Given the description of an element on the screen output the (x, y) to click on. 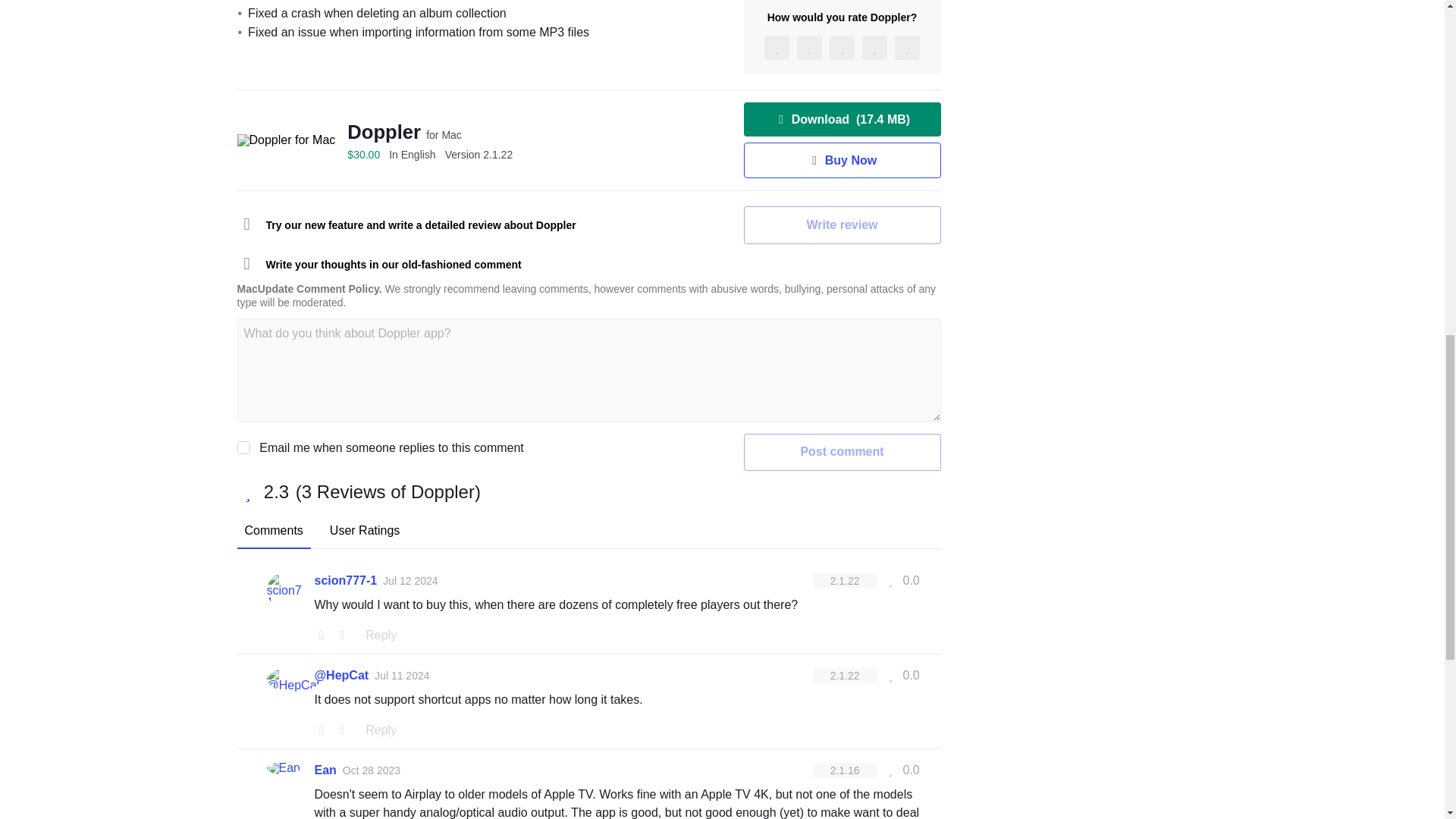
scion777-1 (345, 580)
Version: 2.1.16 (844, 770)
Version: 2.1.22 (844, 675)
2.1.22 (479, 154)
Ean (325, 770)
Version: 2.1.22 (844, 580)
